Given the description of an element on the screen output the (x, y) to click on. 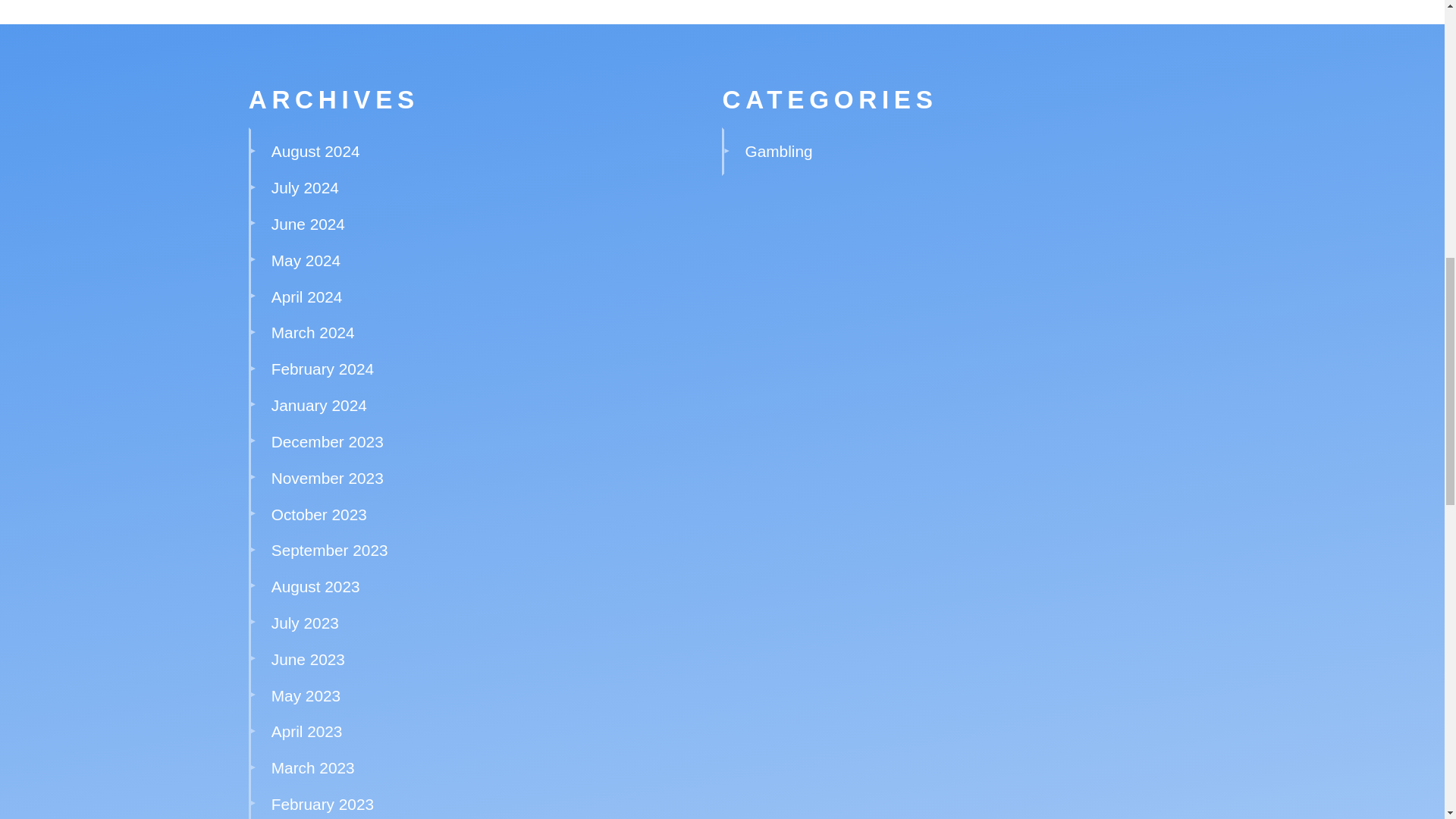
November 2023 (327, 477)
March 2024 (312, 332)
August 2024 (314, 150)
June 2023 (307, 659)
April 2023 (306, 731)
October 2023 (318, 513)
January 2024 (318, 405)
February 2023 (322, 804)
February 2024 (322, 368)
July 2023 (304, 622)
Gambling (778, 150)
December 2023 (327, 441)
May 2024 (305, 260)
April 2024 (306, 296)
May 2023 (305, 695)
